Given the description of an element on the screen output the (x, y) to click on. 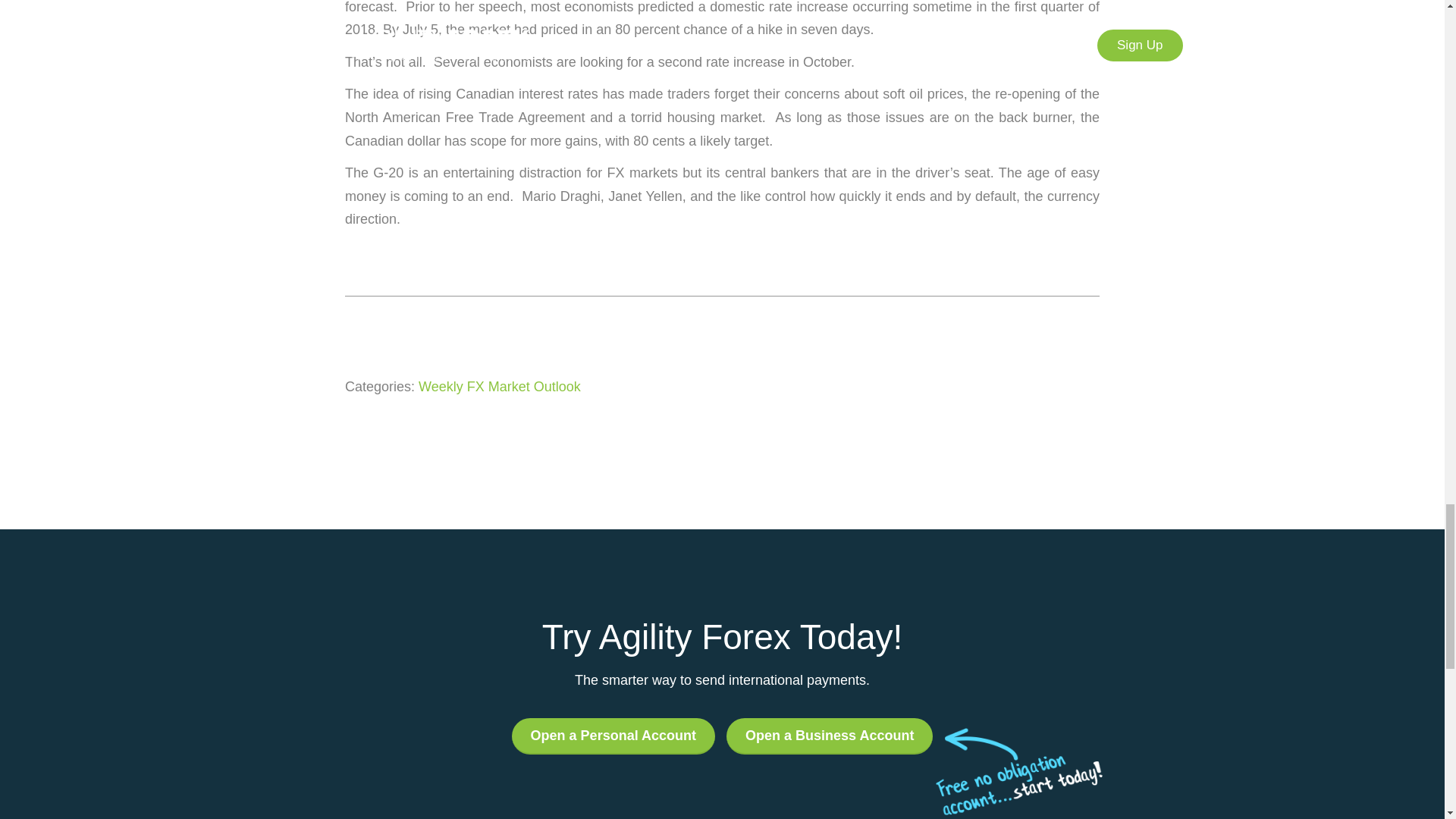
Open a Business Account (829, 736)
Weekly FX Market Outlook (499, 386)
Open a Personal Account (613, 736)
